Given the description of an element on the screen output the (x, y) to click on. 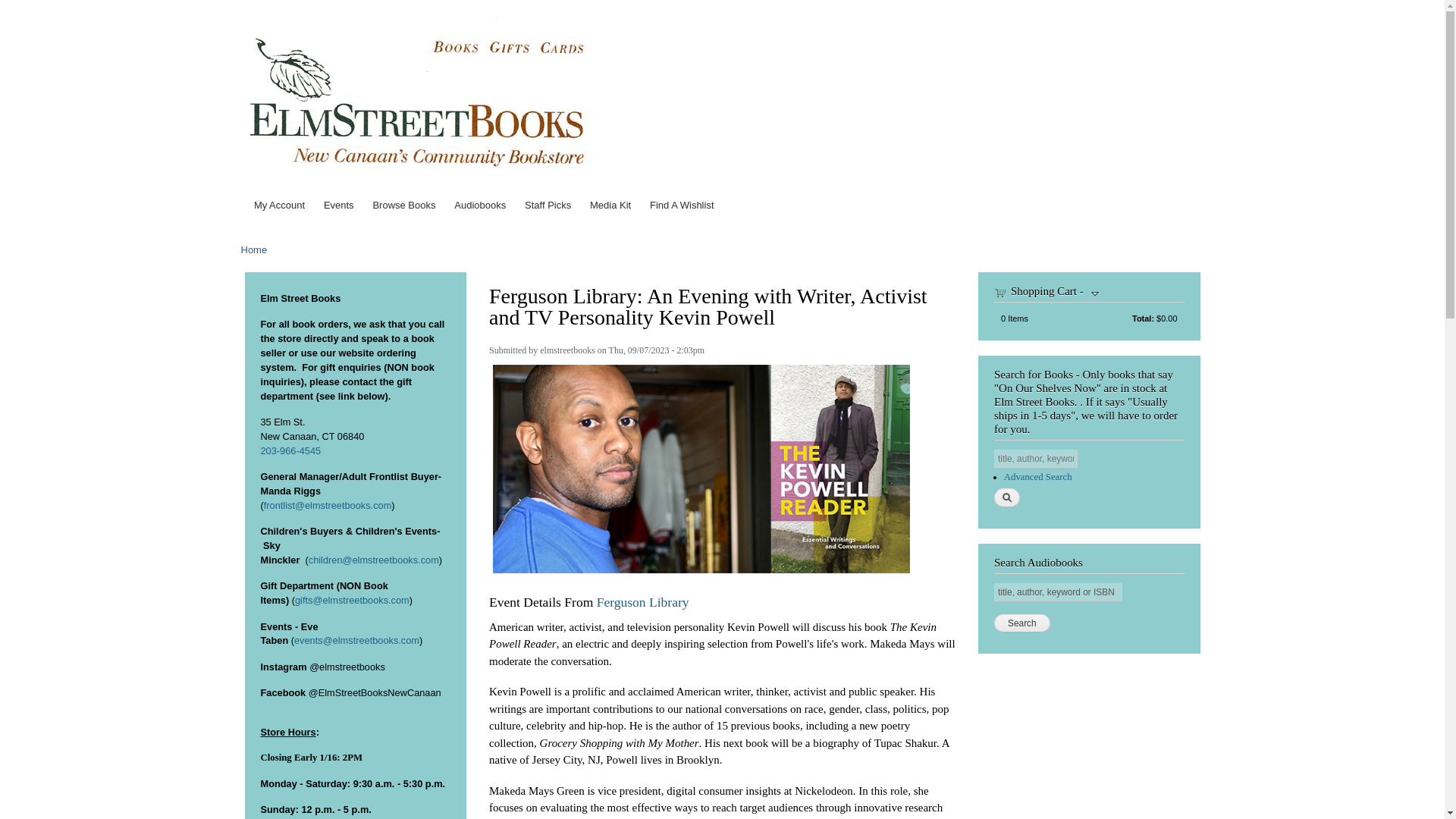
Enter title, author, keyword or ISBN. (1058, 592)
title, author, keyword or ISBN (1058, 592)
Find A Wishlist (682, 205)
Elm Street Books (692, 28)
View your shopping cart. (1000, 291)
Home (418, 95)
Browse Books (404, 205)
Staff Picks (547, 205)
My Account (279, 205)
203-966-4545 (290, 450)
